Given the description of an element on the screen output the (x, y) to click on. 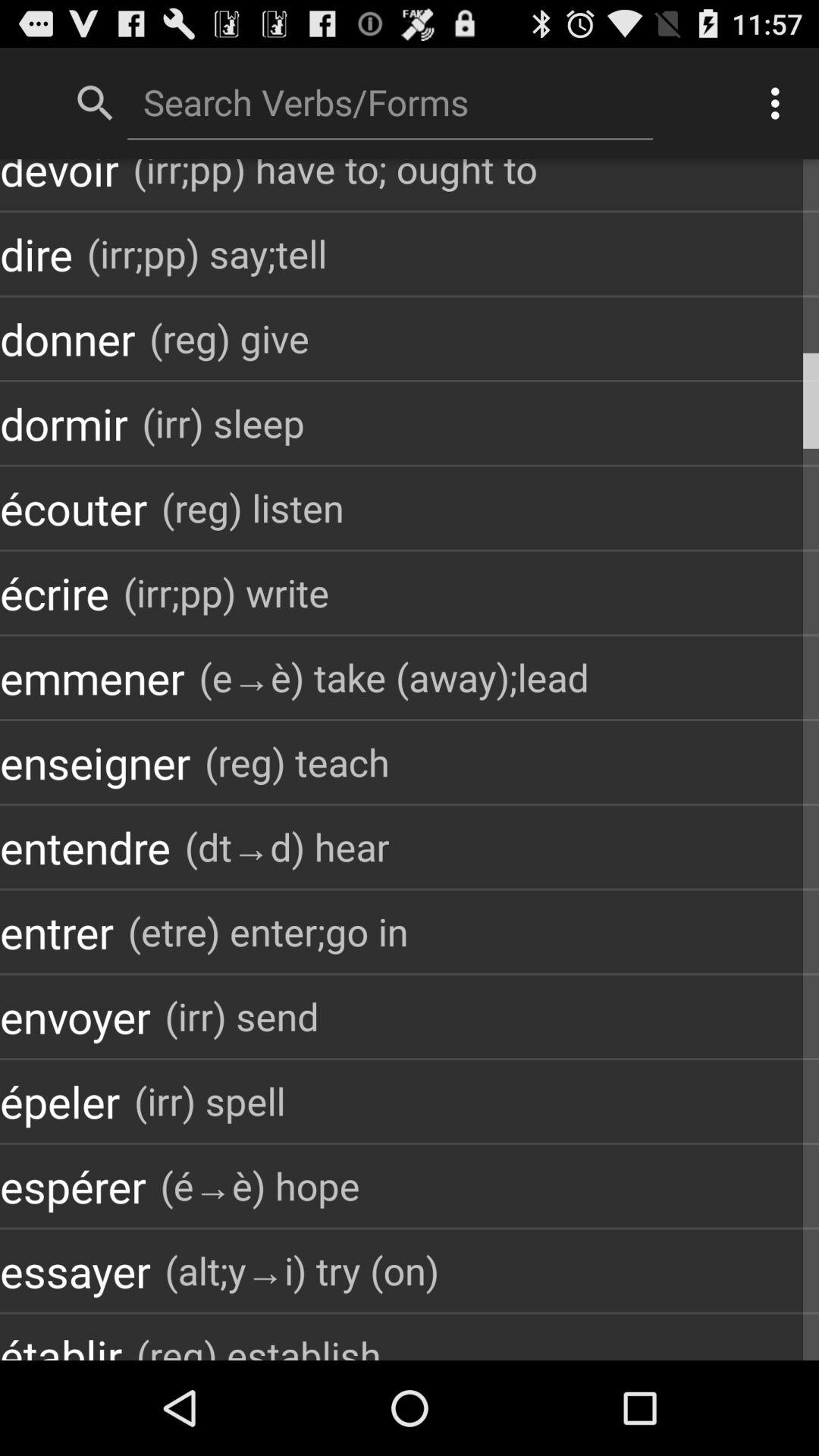
choose icon below essayer (258, 1343)
